Given the description of an element on the screen output the (x, y) to click on. 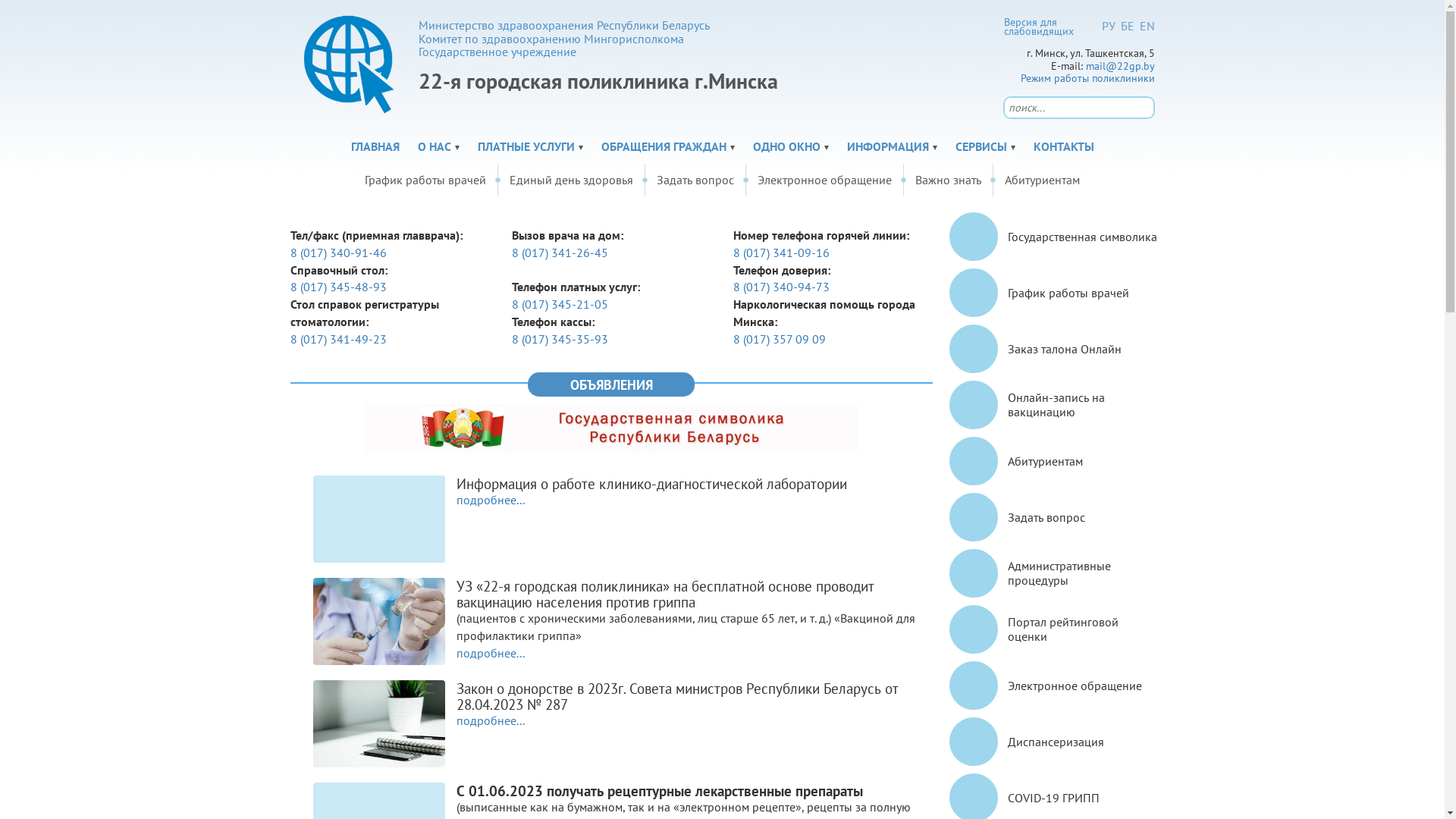
8 (017) 340-94-73 Element type: text (781, 286)
8 (017) 345-21-05 Element type: text (559, 304)
8 (017) 341-09-16 Element type: text (781, 252)
8 (017) 341-26-45 Element type: text (559, 252)
8 (017) 357 09 09 Element type: text (779, 339)
8 (017) 345-48-93 Element type: text (337, 286)
8 (017) 341-49-23 Element type: text (337, 339)
8 (017) 340-91-46 Element type: text (337, 252)
mail@22gp.by Element type: text (1119, 65)
EN Element type: text (1146, 25)
8 (017) 345-35-93 Element type: text (559, 339)
